Given the description of an element on the screen output the (x, y) to click on. 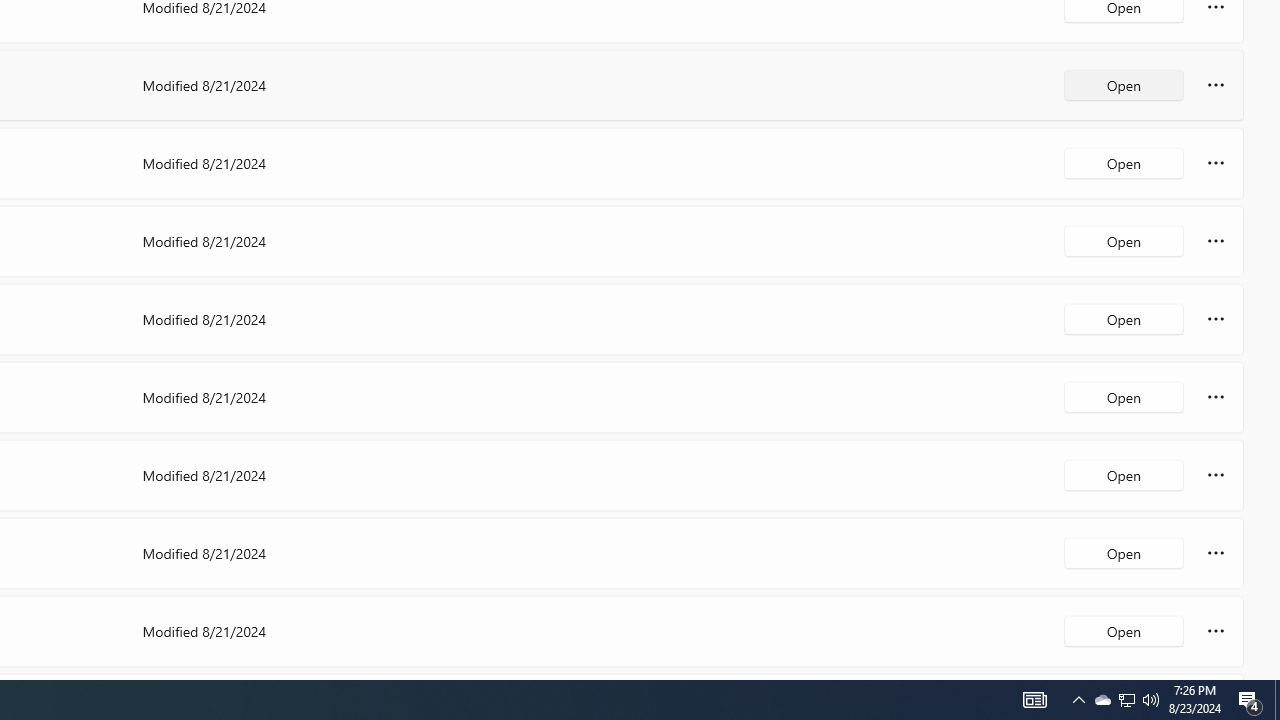
More options (1215, 630)
Open (1123, 630)
